Given the description of an element on the screen output the (x, y) to click on. 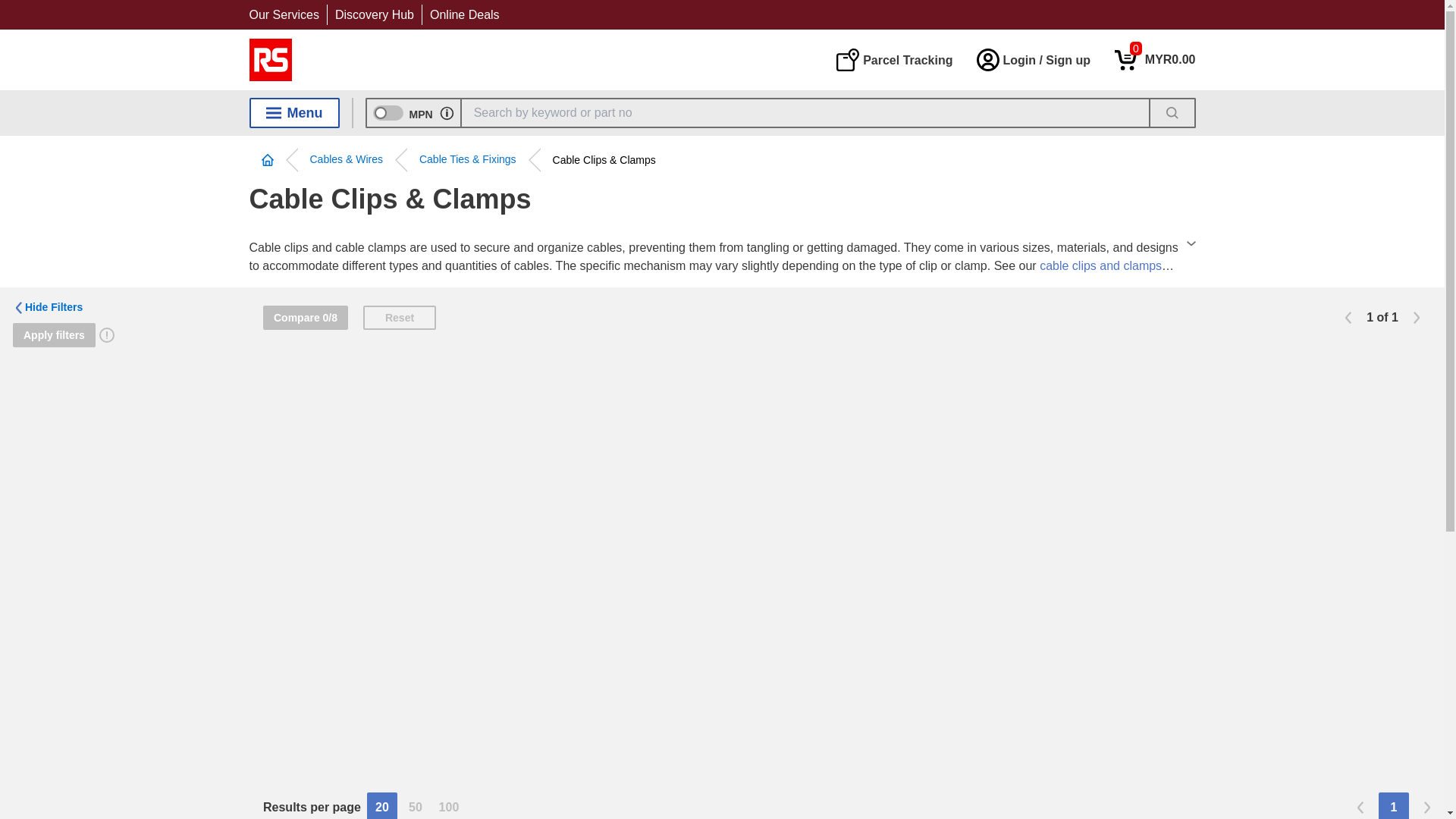
0 (1155, 59)
Menu (293, 112)
Parcel Tracking (893, 59)
Our Services (283, 14)
Online Deals (464, 14)
Discovery Hub (1155, 59)
